Given the description of an element on the screen output the (x, y) to click on. 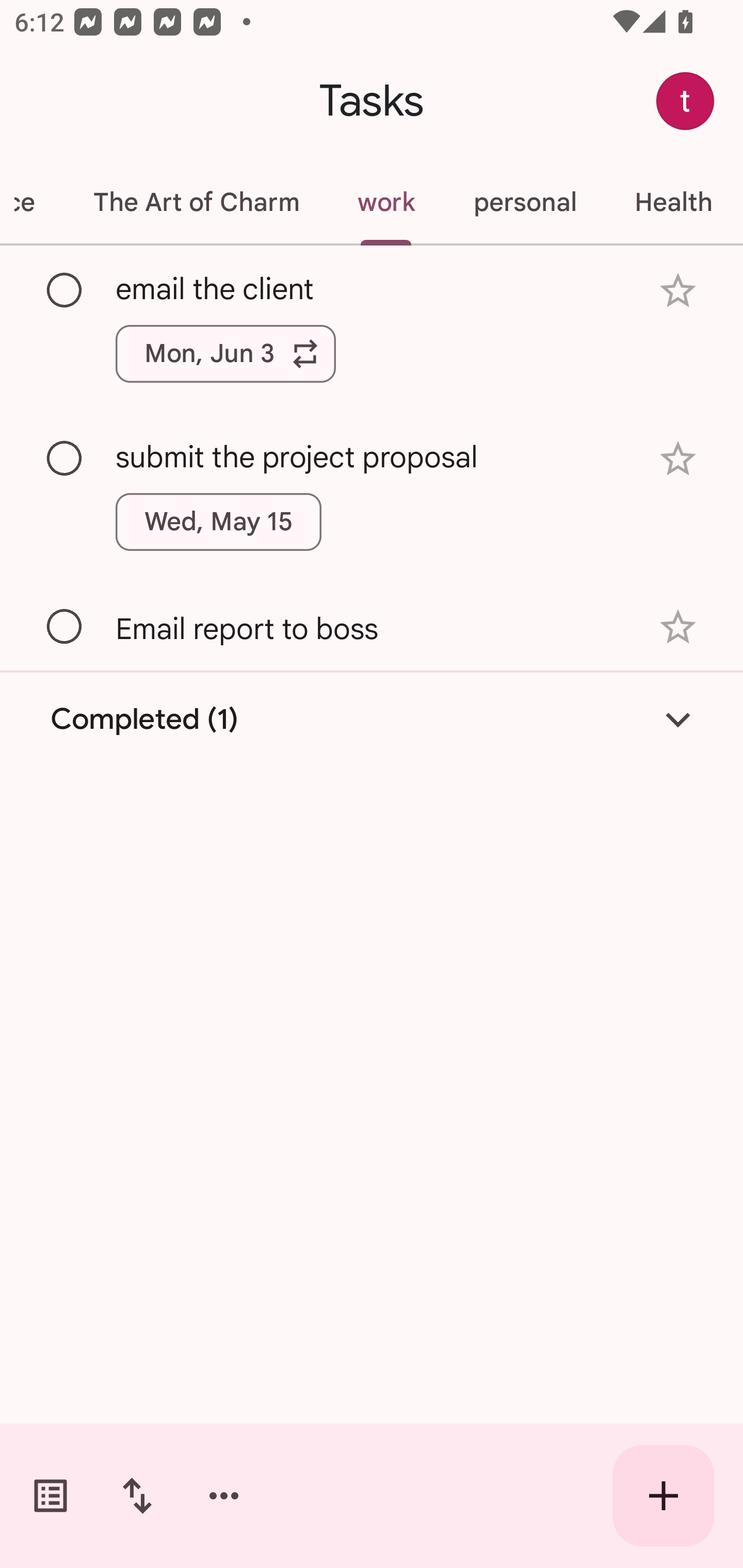
The Art of Charm (195, 202)
personal (524, 202)
Health (673, 202)
Add star (677, 290)
Mark as complete (64, 290)
Mon, Jun 3 (225, 353)
Add star (677, 458)
Mark as complete (64, 459)
Wed, May 15 (218, 522)
Add star (677, 627)
Mark as complete (64, 627)
Completed (1) (371, 719)
Switch task lists (50, 1495)
Create new task (663, 1495)
Change sort order (136, 1495)
More options (223, 1495)
